Given the description of an element on the screen output the (x, y) to click on. 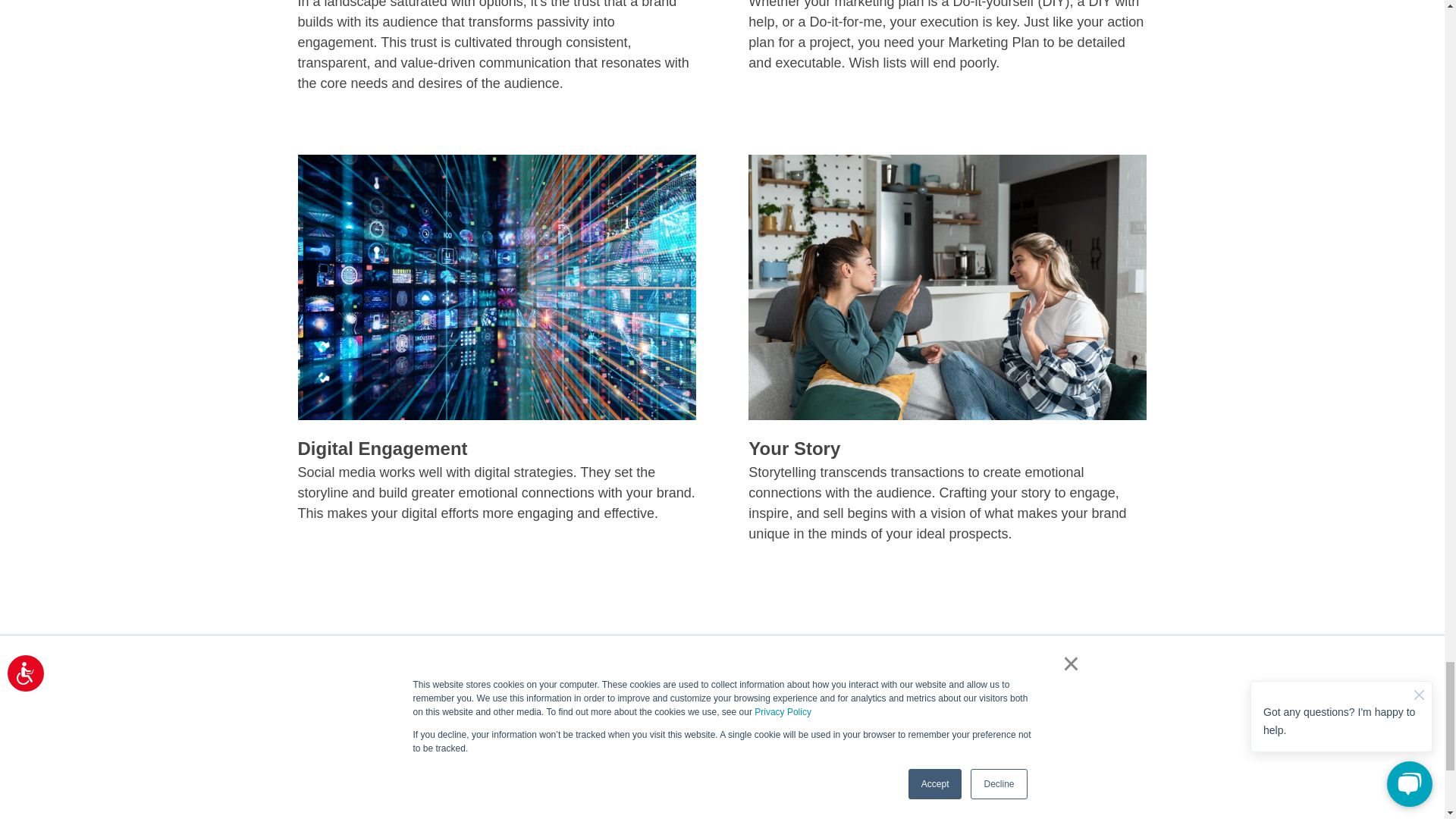
KEEP ME UPDATED (729, 805)
